Given the description of an element on the screen output the (x, y) to click on. 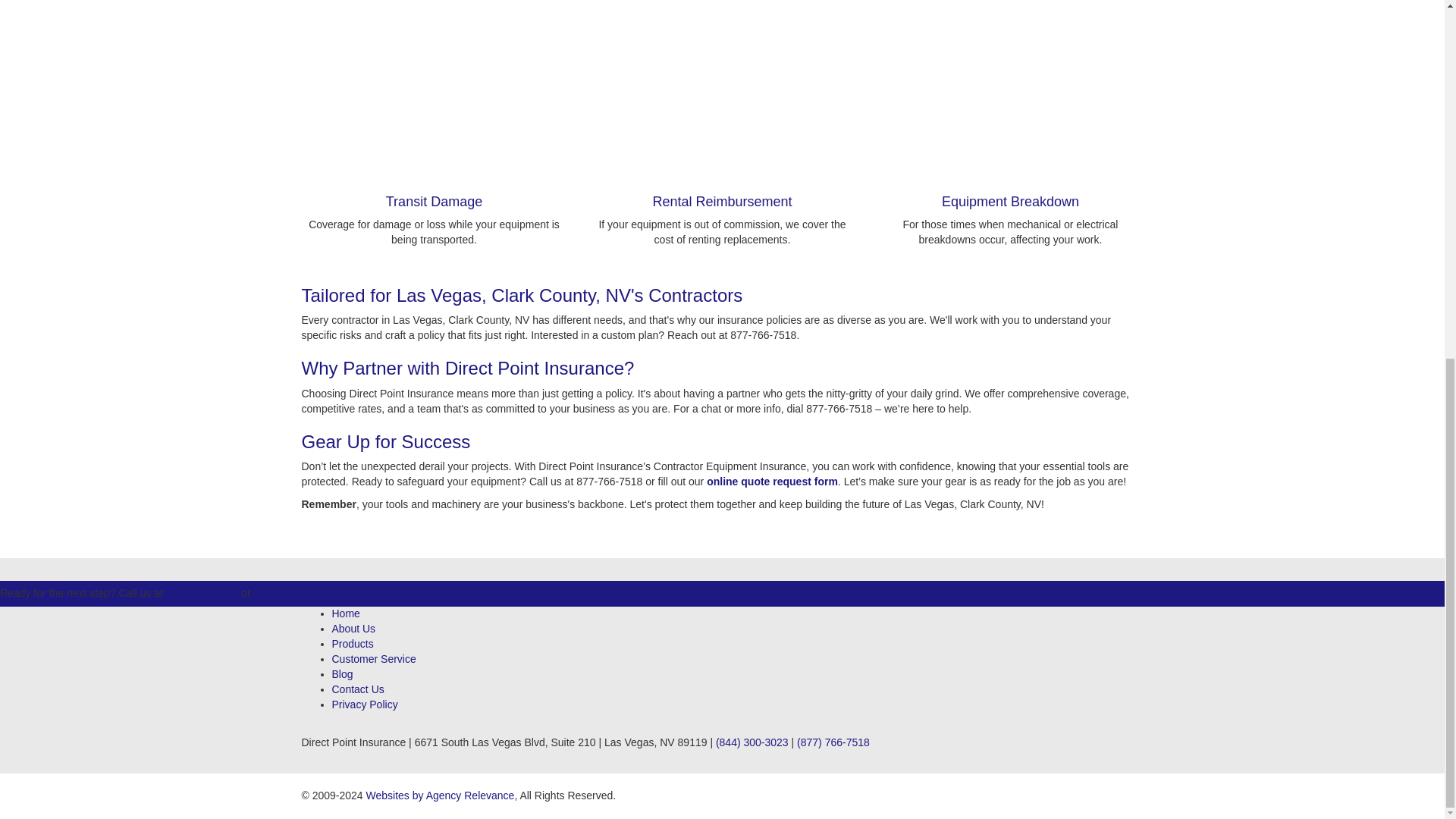
Blog (342, 674)
online quote request form (772, 481)
Privacy Policy (364, 704)
Products (352, 644)
Contact Us (357, 689)
Websites by Agency Relevance (440, 795)
Request a Quote (303, 593)
Customer Service (373, 658)
Home (345, 613)
About Us (353, 628)
